Given the description of an element on the screen output the (x, y) to click on. 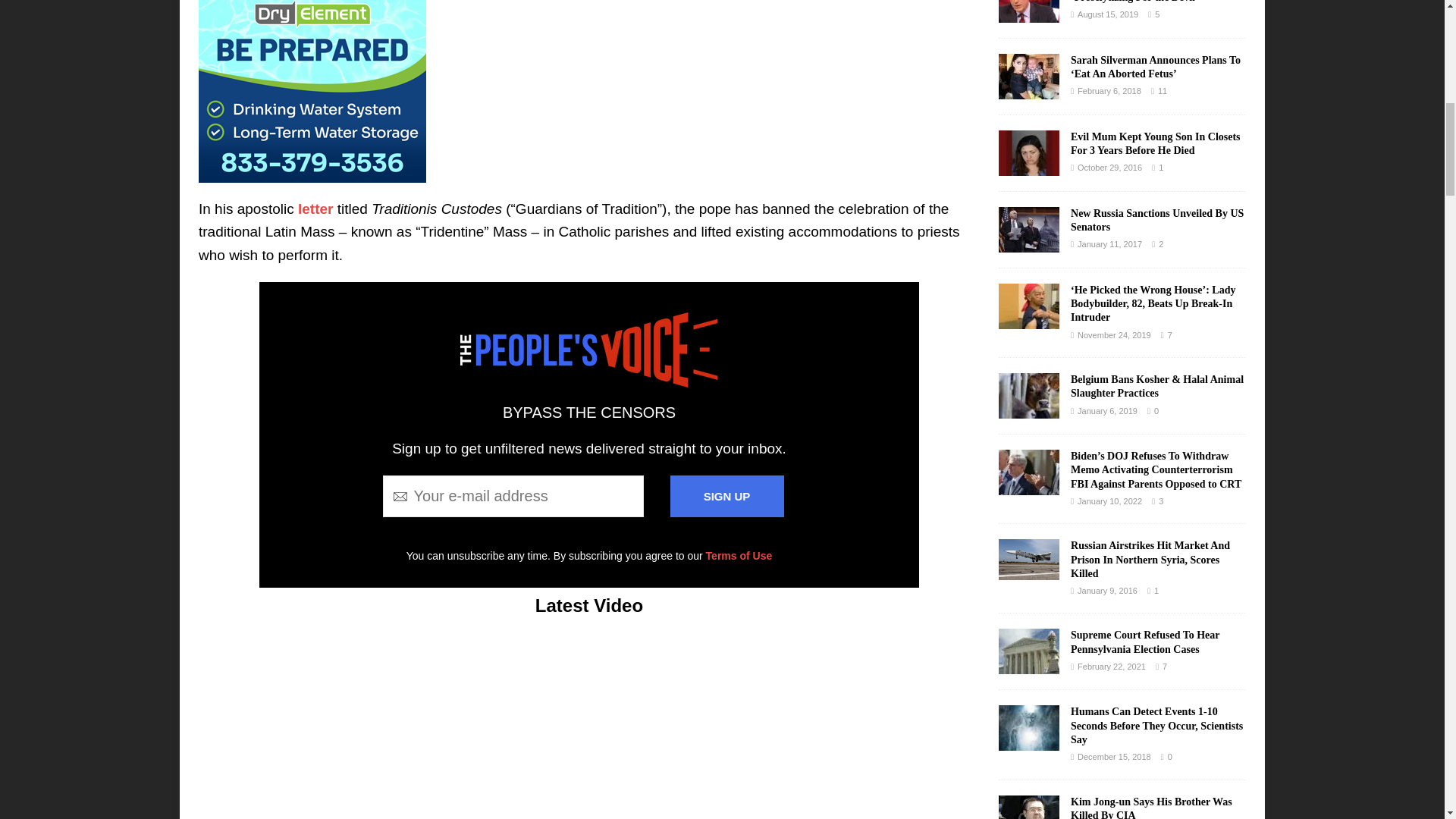
SIGN UP (726, 495)
